Given the description of an element on the screen output the (x, y) to click on. 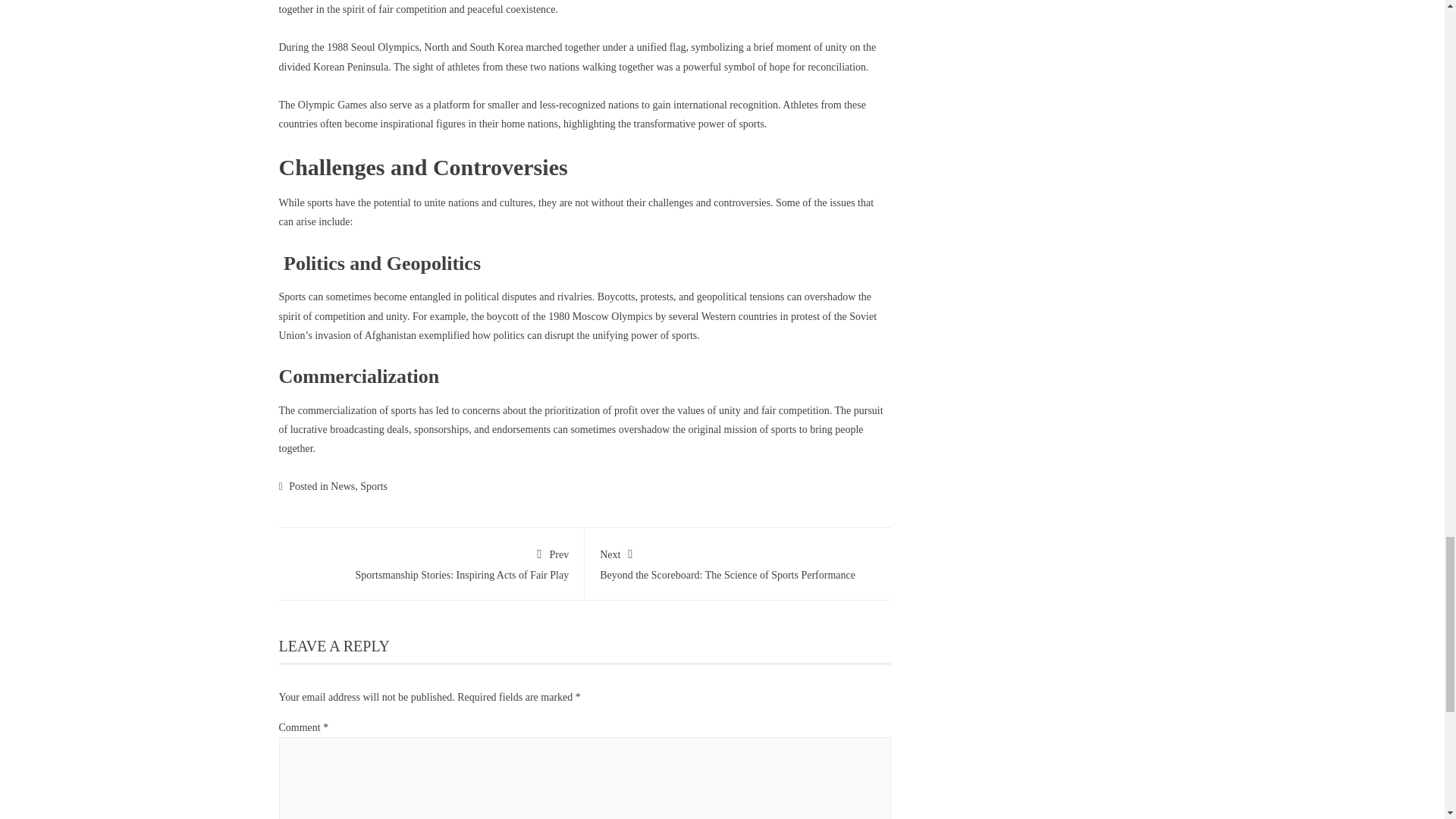
Sports (431, 561)
News (373, 486)
